Given the description of an element on the screen output the (x, y) to click on. 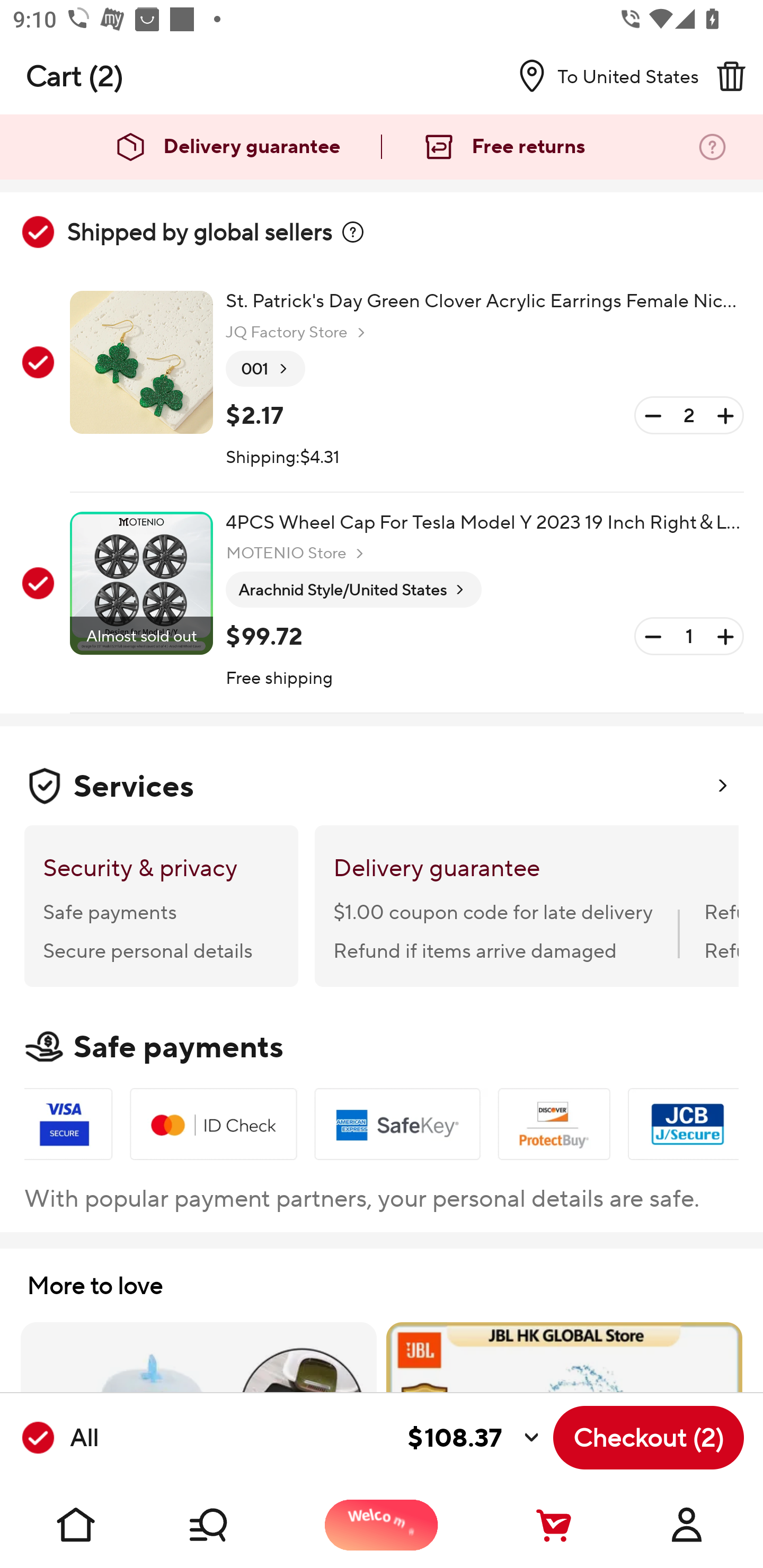
 To United States (601, 75)
 (730, 75)
 (352, 231)
JQ Factory Store (297, 333)
001 (265, 369)
2 (688, 415)
MOTENIO Store (296, 553)
Arachnid Style/United States (353, 590)
1 (688, 636)
$_108.37  (324, 1437)
Checkout (2) (648, 1437)
Home (76, 1524)
Shop (228, 1524)
Account (686, 1524)
